Given the description of an element on the screen output the (x, y) to click on. 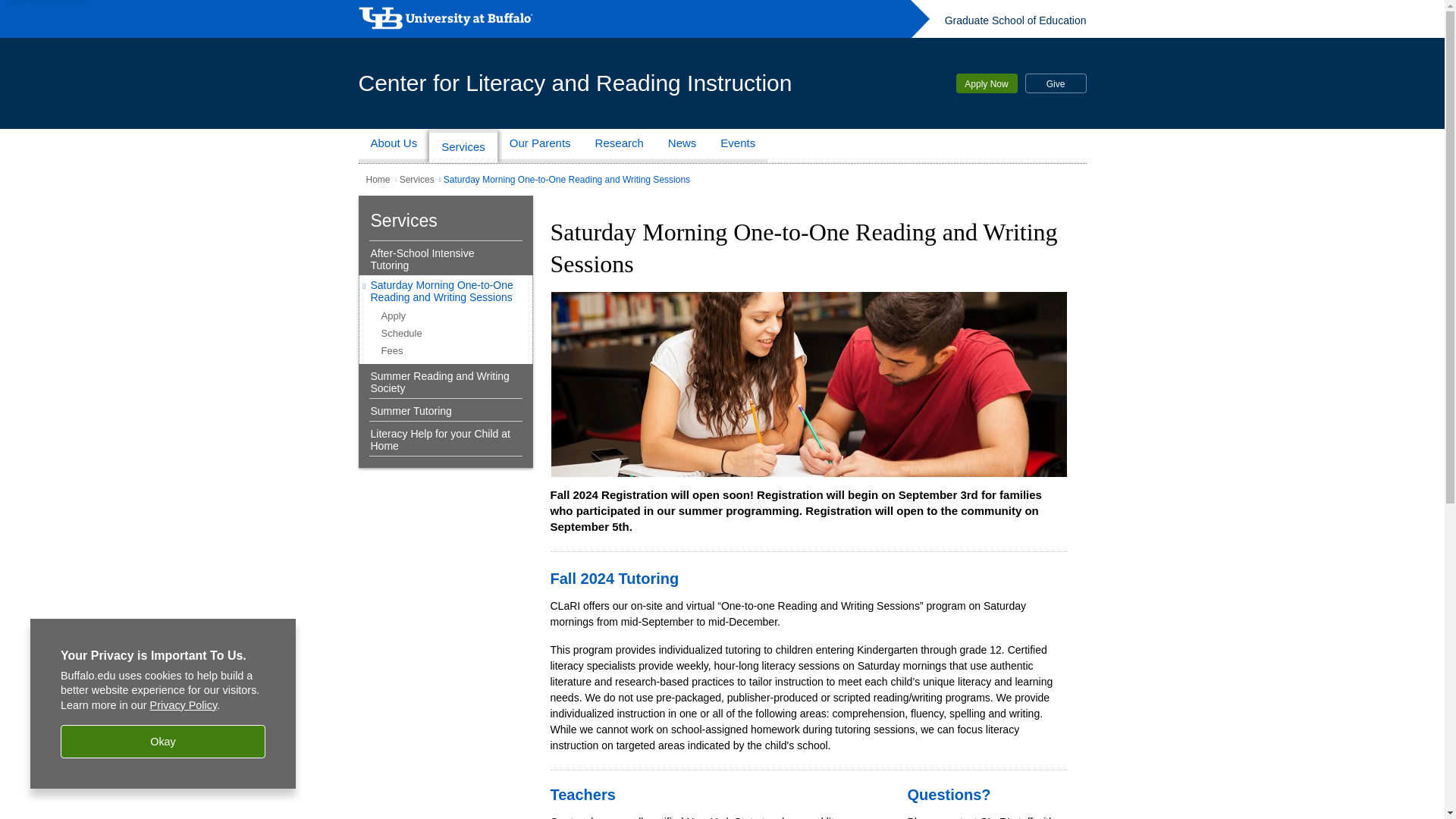
Center for Literacy and Reading Instruction (575, 82)
News (682, 145)
Graduate School of Education (1015, 19)
About Us (393, 145)
Our Parents (540, 145)
Give (1055, 83)
Services (463, 145)
Home (377, 179)
Research (619, 145)
Events (737, 145)
